Given the description of an element on the screen output the (x, y) to click on. 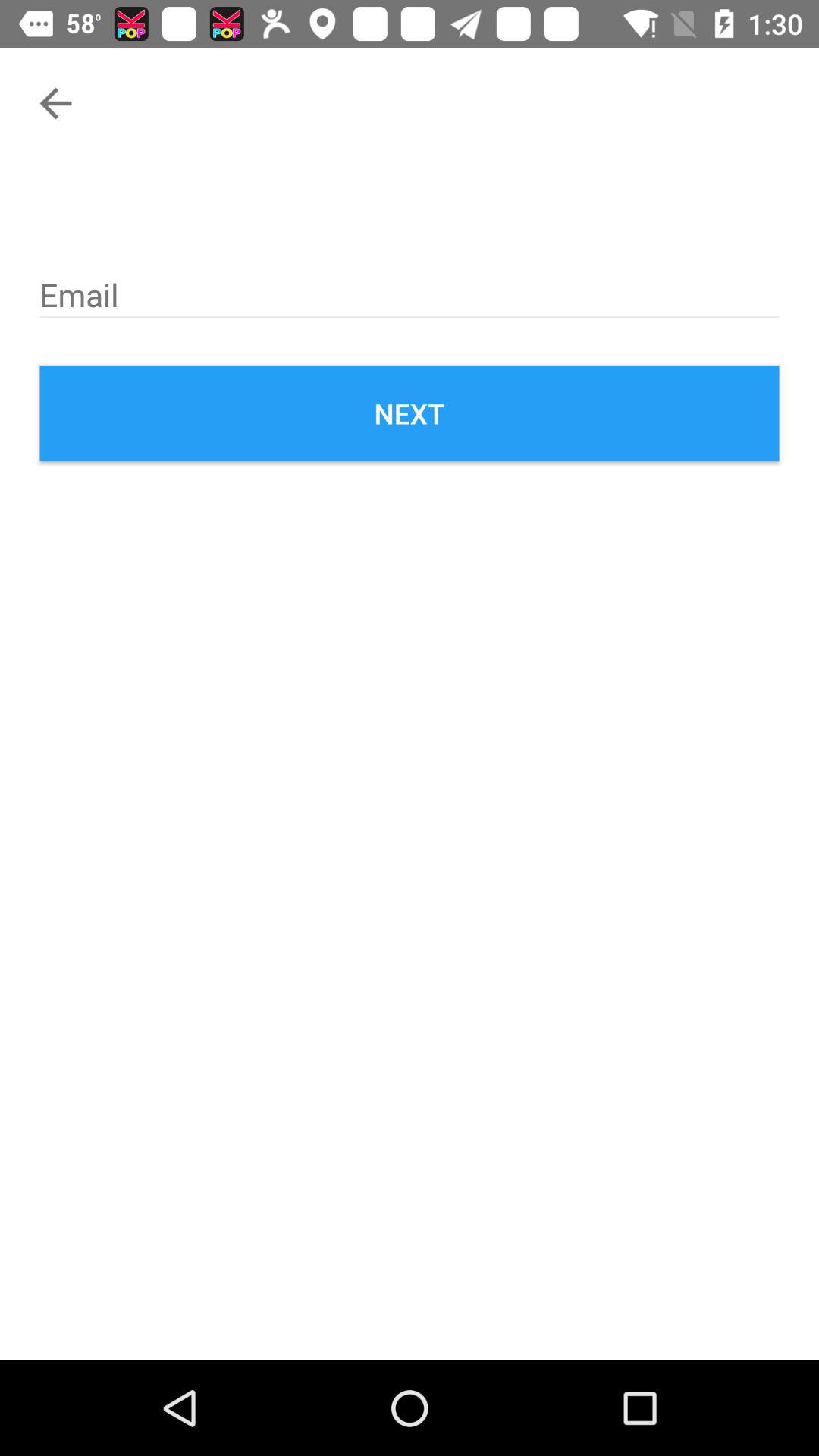
open icon at the top left corner (55, 103)
